Given the description of an element on the screen output the (x, y) to click on. 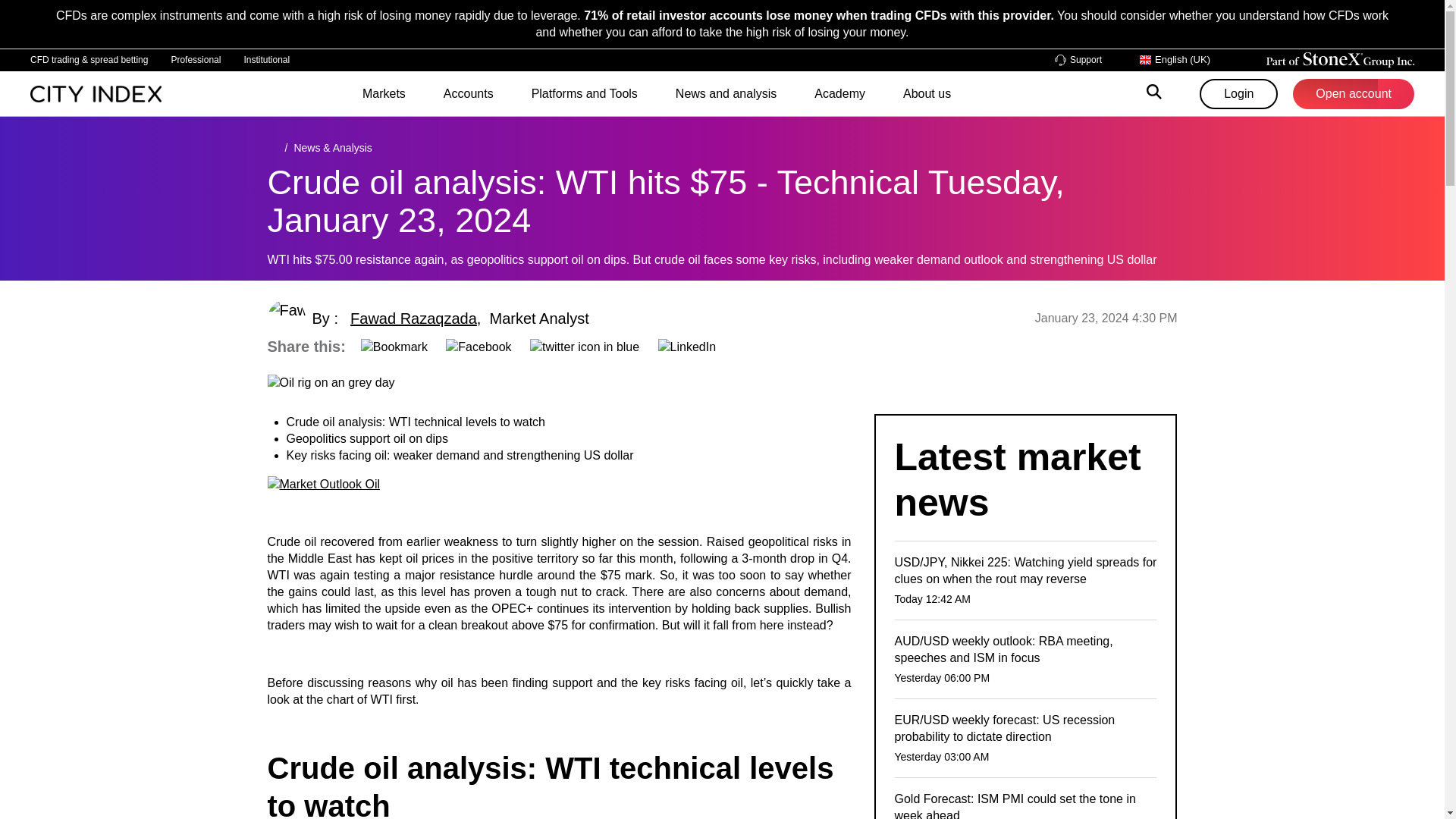
Professional (195, 59)
Share to X (584, 345)
search (1154, 93)
Send via Email (394, 345)
Home (95, 93)
Home (272, 147)
Share to LinkedIn (687, 345)
Support (1078, 60)
Share to Facebook (478, 345)
News and Analysis (332, 147)
Institutional (266, 59)
Fawad Razaqzada (413, 318)
